Given the description of an element on the screen output the (x, y) to click on. 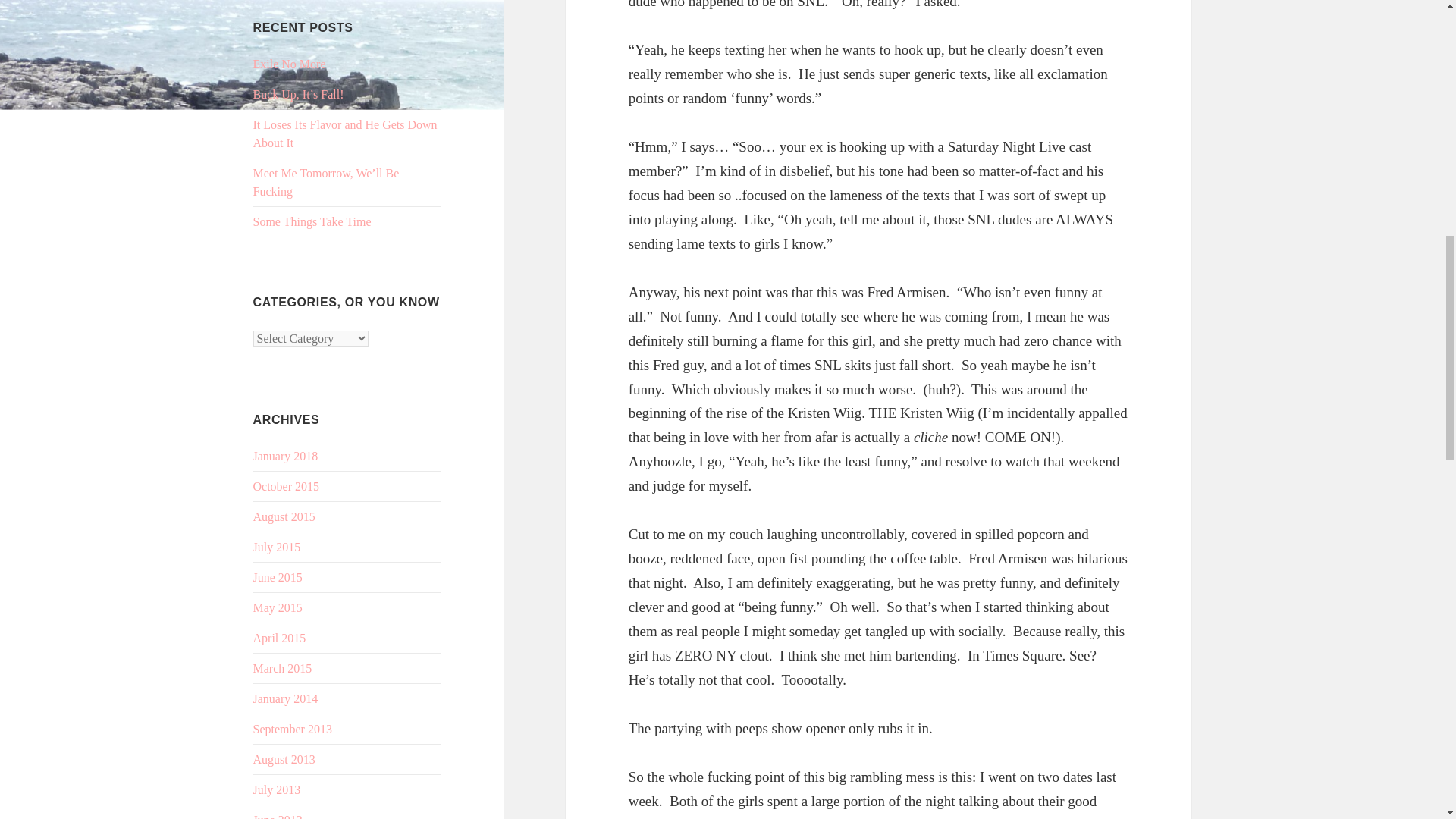
August 2013 (284, 758)
May 2015 (277, 607)
It Loses Its Flavor and He Gets Down About It (345, 133)
April 2015 (279, 637)
Some Things Take Time (312, 221)
Exile No More (289, 63)
June 2013 (277, 816)
August 2015 (284, 516)
October 2015 (286, 486)
March 2015 (283, 667)
July 2015 (277, 546)
September 2013 (292, 728)
July 2013 (277, 789)
January 2014 (285, 698)
January 2018 (285, 455)
